Given the description of an element on the screen output the (x, y) to click on. 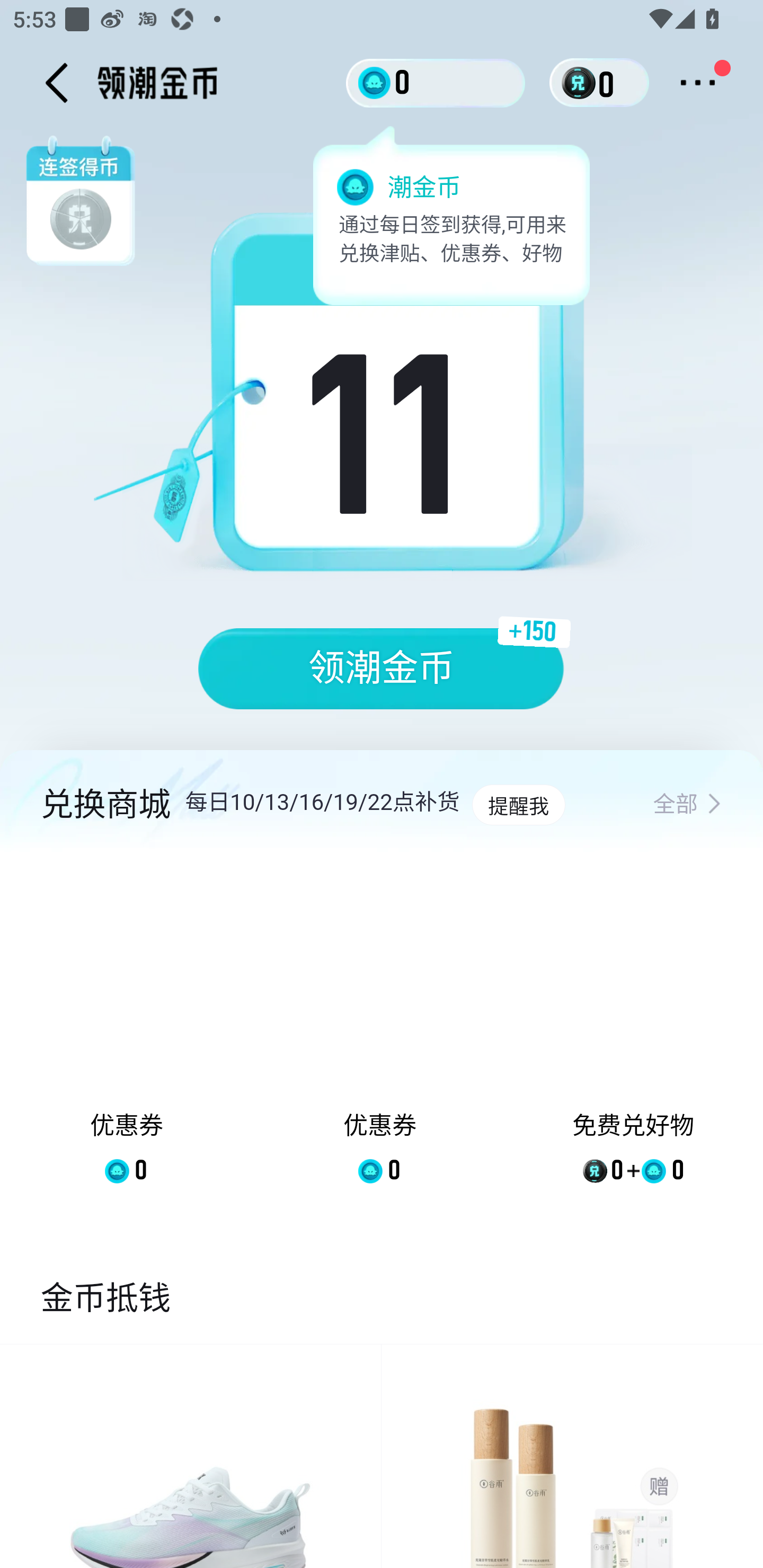
0 (435, 82)
format,webp 0 (581, 83)
领潮金币 + 150 (381, 668)
提醒我 (518, 805)
全部 (687, 804)
优惠券 0 (127, 1031)
优惠券 0 (379, 1031)
免费兑好物 0 0 (633, 1031)
